Given the description of an element on the screen output the (x, y) to click on. 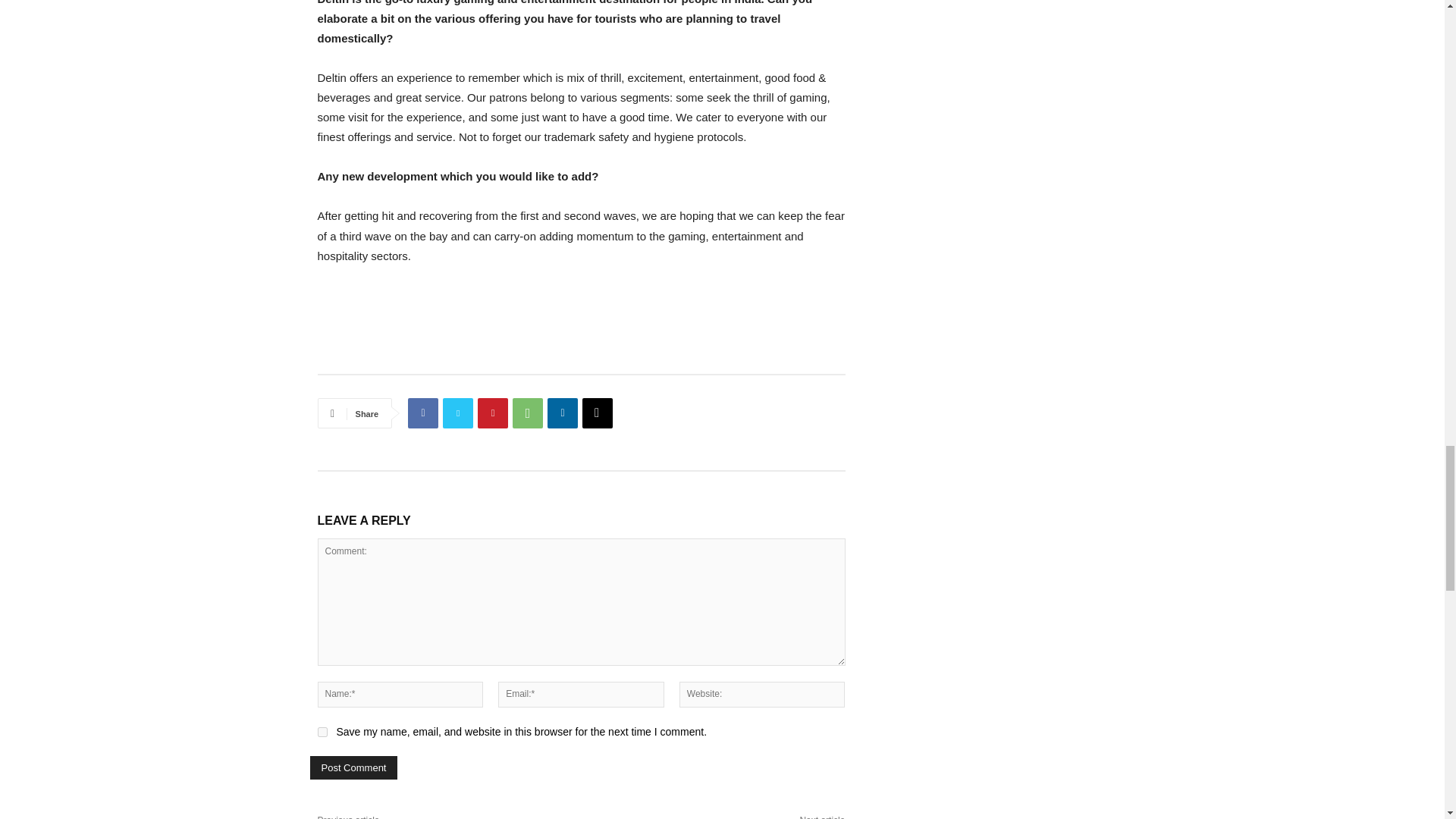
Post Comment (352, 767)
yes (321, 732)
